Given the description of an element on the screen output the (x, y) to click on. 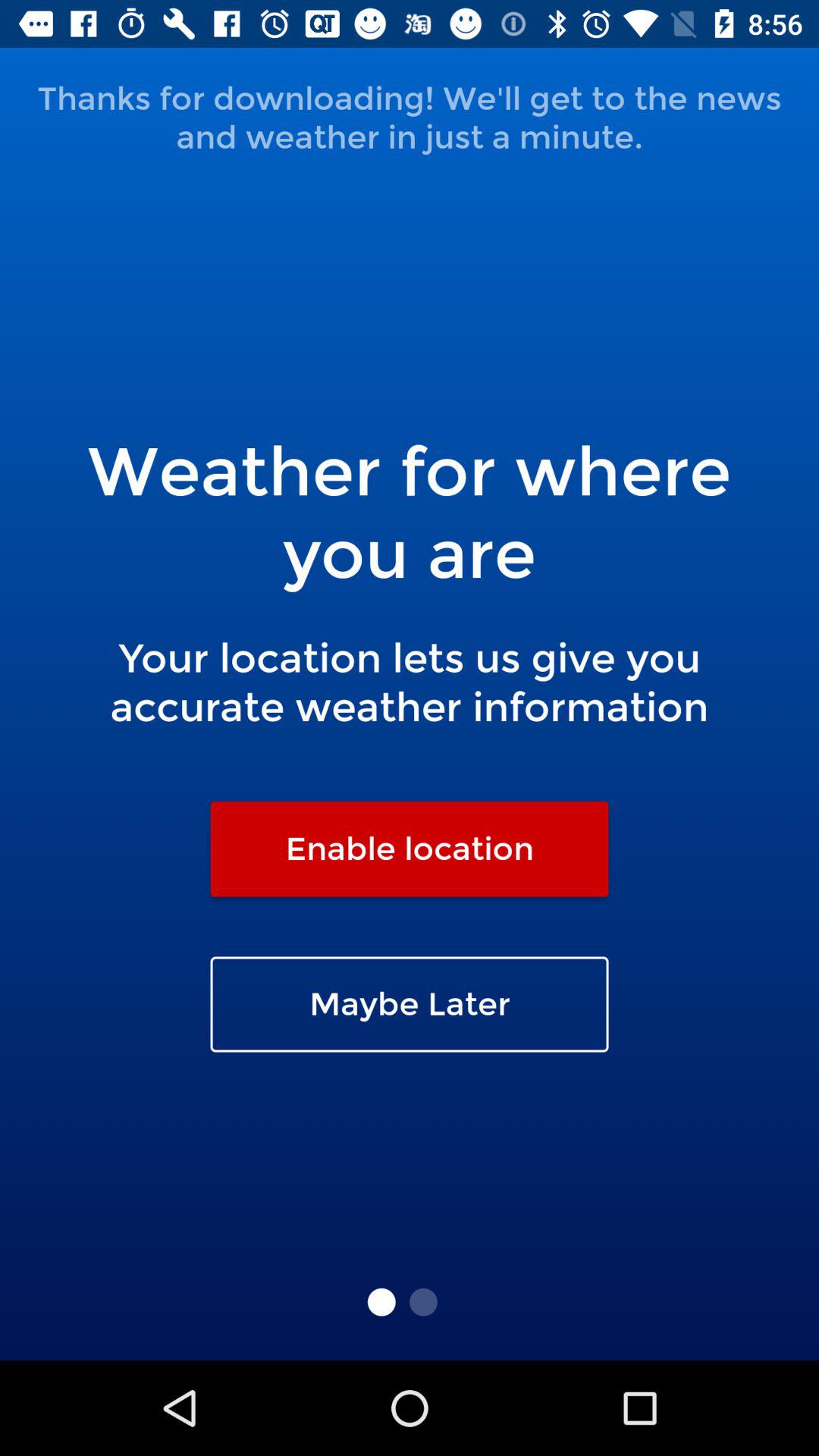
jump until the enable location item (409, 848)
